Given the description of an element on the screen output the (x, y) to click on. 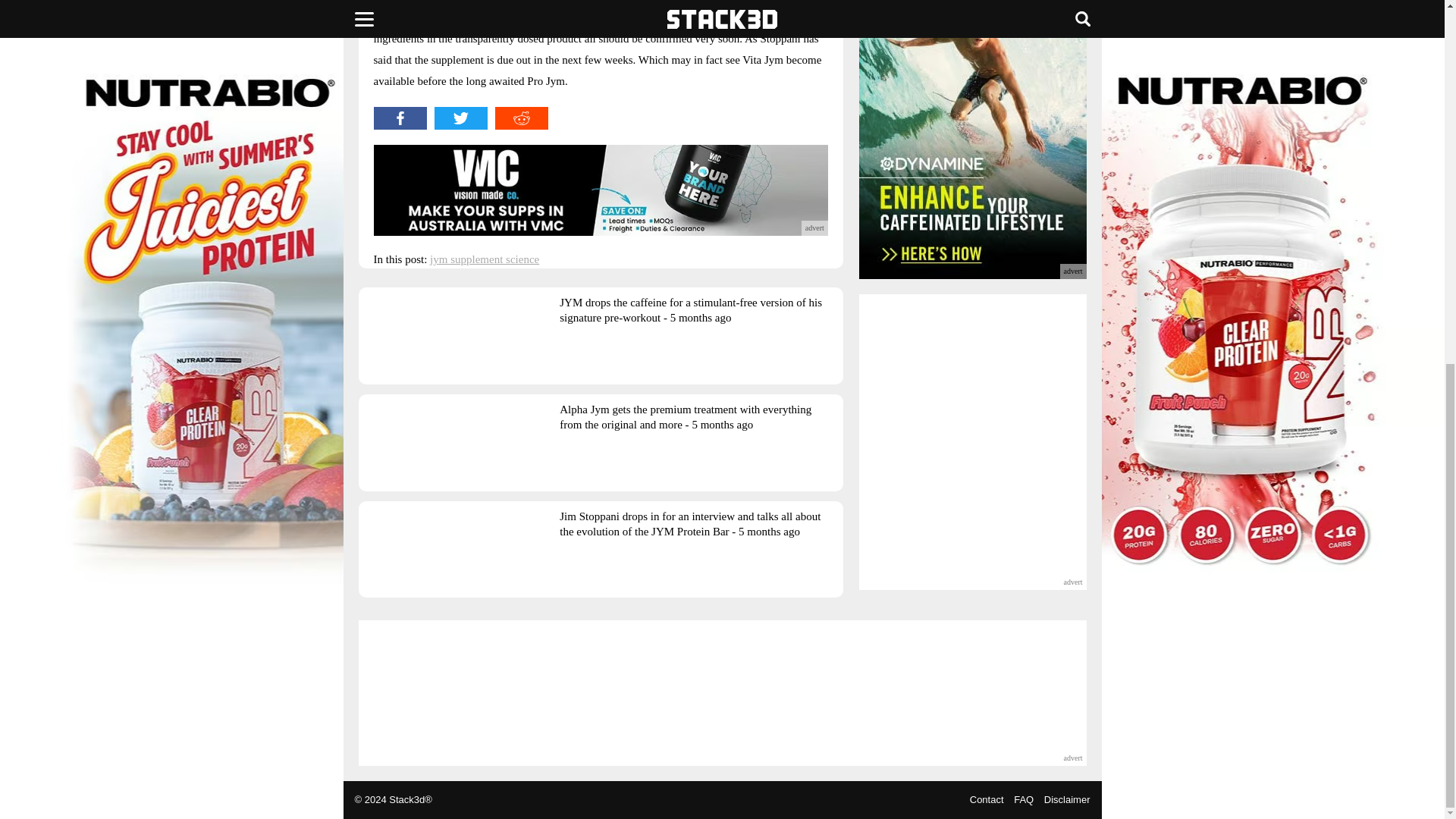
jym supplement science (483, 259)
